Given the description of an element on the screen output the (x, y) to click on. 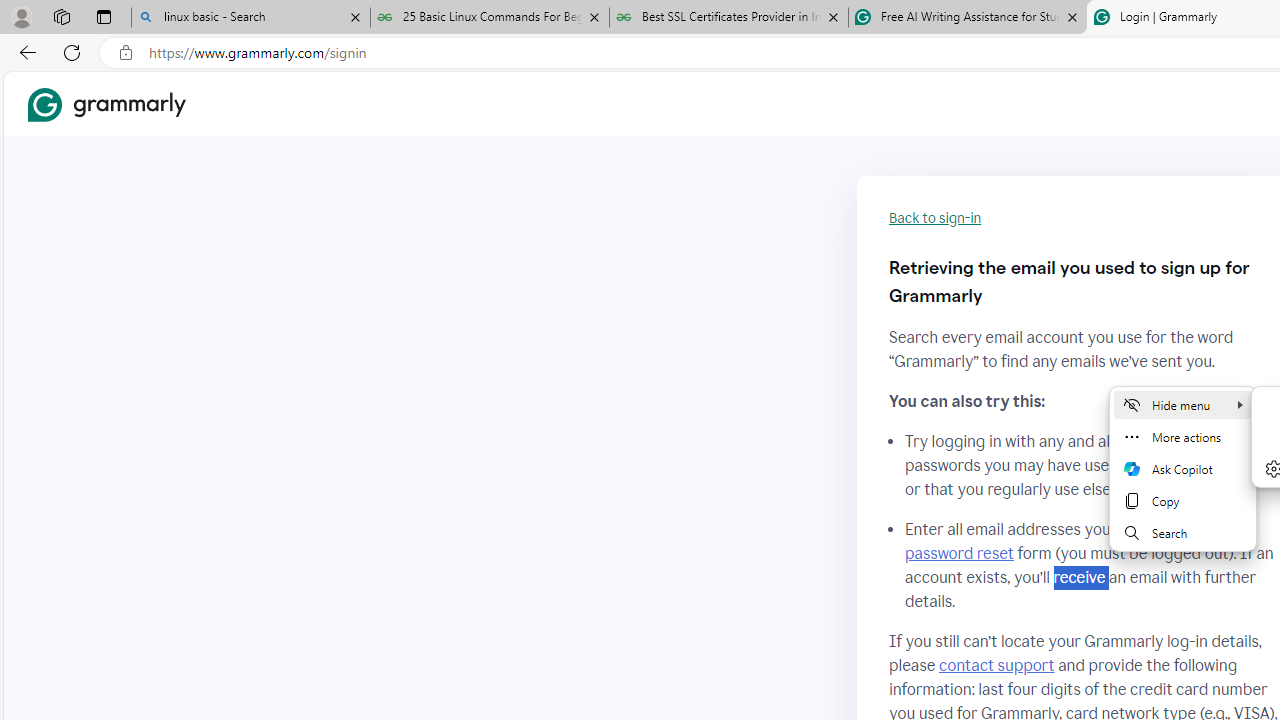
Ask Copilot (1182, 468)
Grammarly Home (106, 103)
Mini menu on text selection (1182, 468)
contact support (996, 665)
Copy (1182, 500)
More actions (1182, 436)
Grammarly Home (106, 104)
password reset (958, 553)
